Given the description of an element on the screen output the (x, y) to click on. 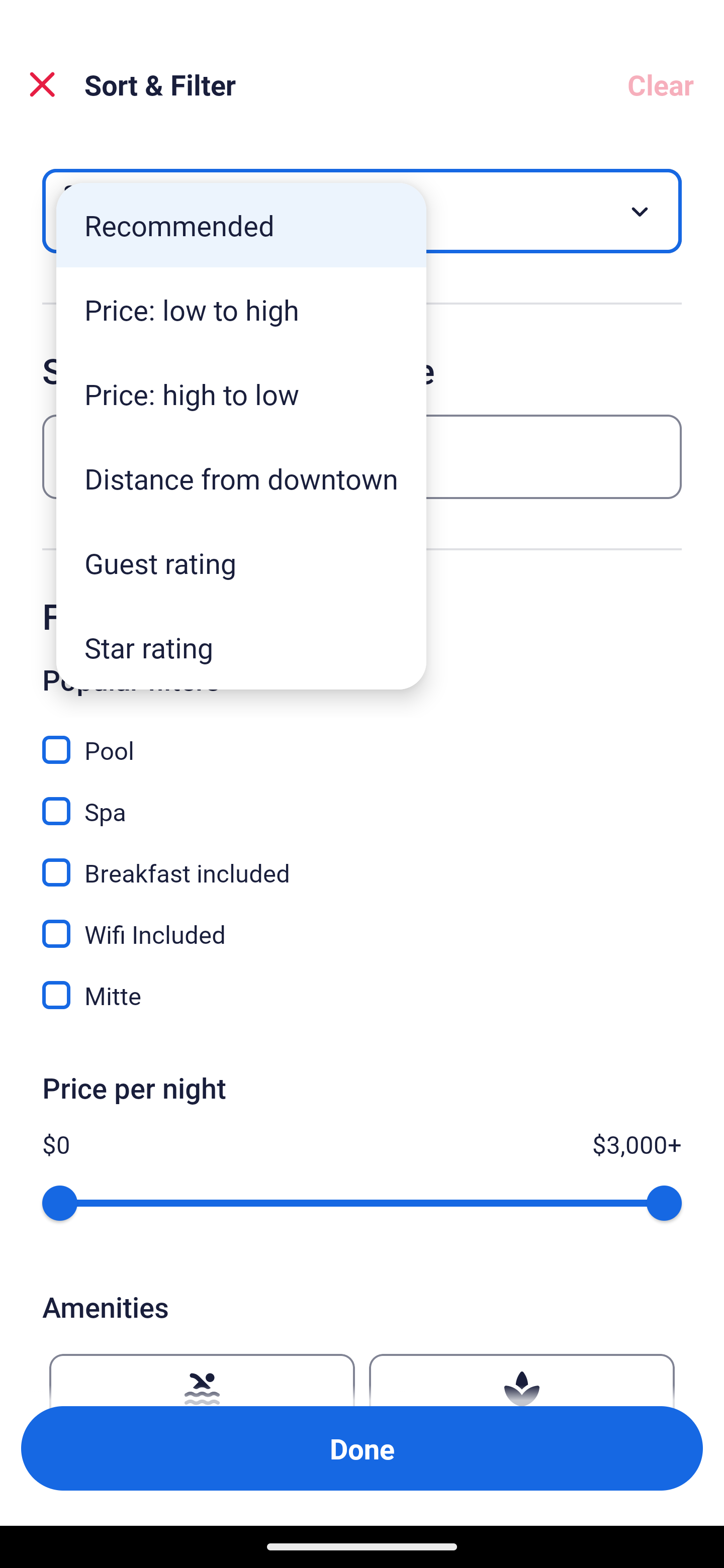
Price: low to high (241, 309)
Price: high to low (241, 393)
Distance from downtown (241, 477)
Guest rating (241, 562)
Star rating (241, 647)
